Given the description of an element on the screen output the (x, y) to click on. 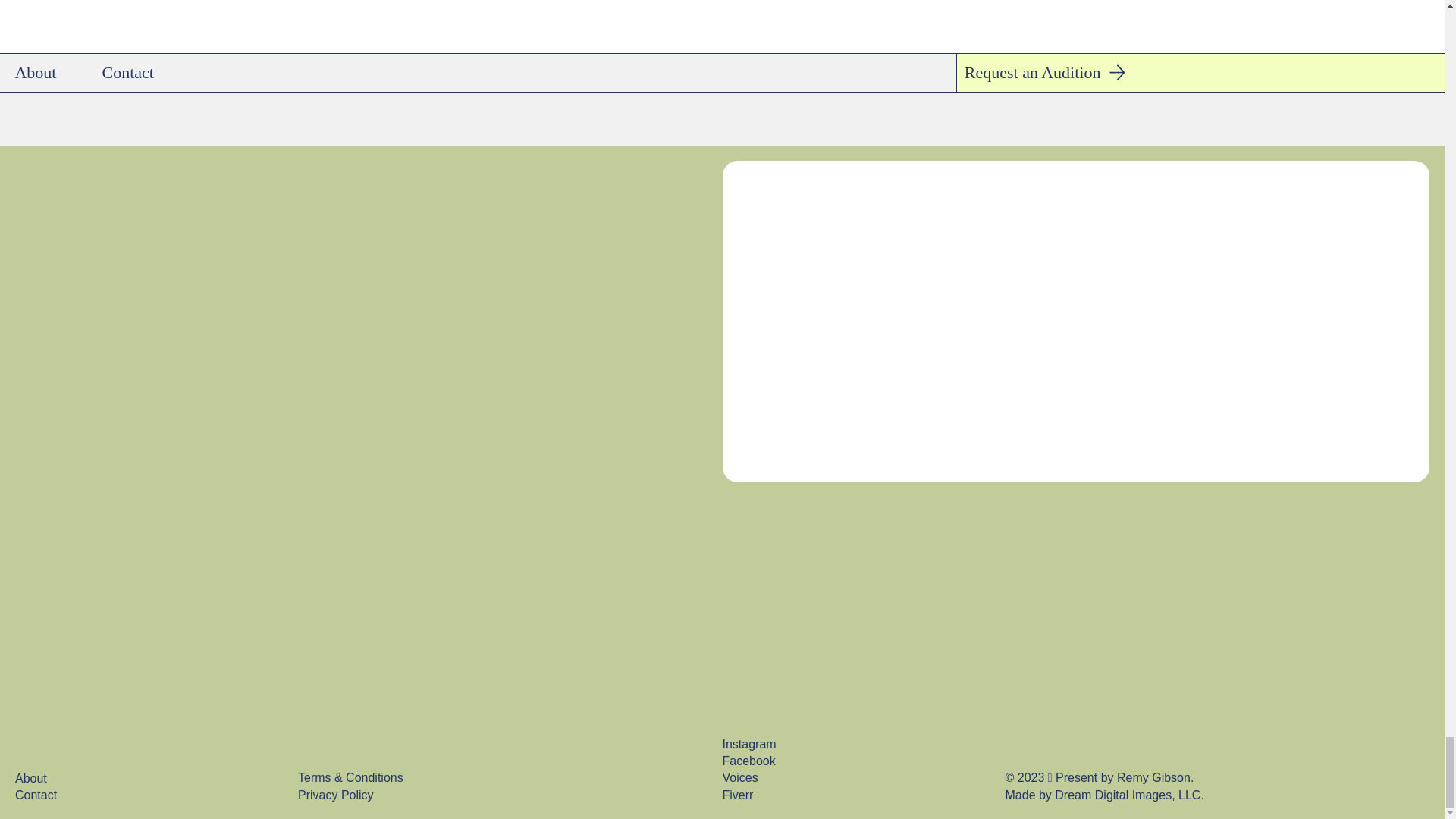
Voices (739, 777)
About (142, 778)
Instagram (749, 744)
Contact (142, 795)
Fiverr (737, 794)
Privacy Policy (336, 794)
Facebook (748, 760)
